Given the description of an element on the screen output the (x, y) to click on. 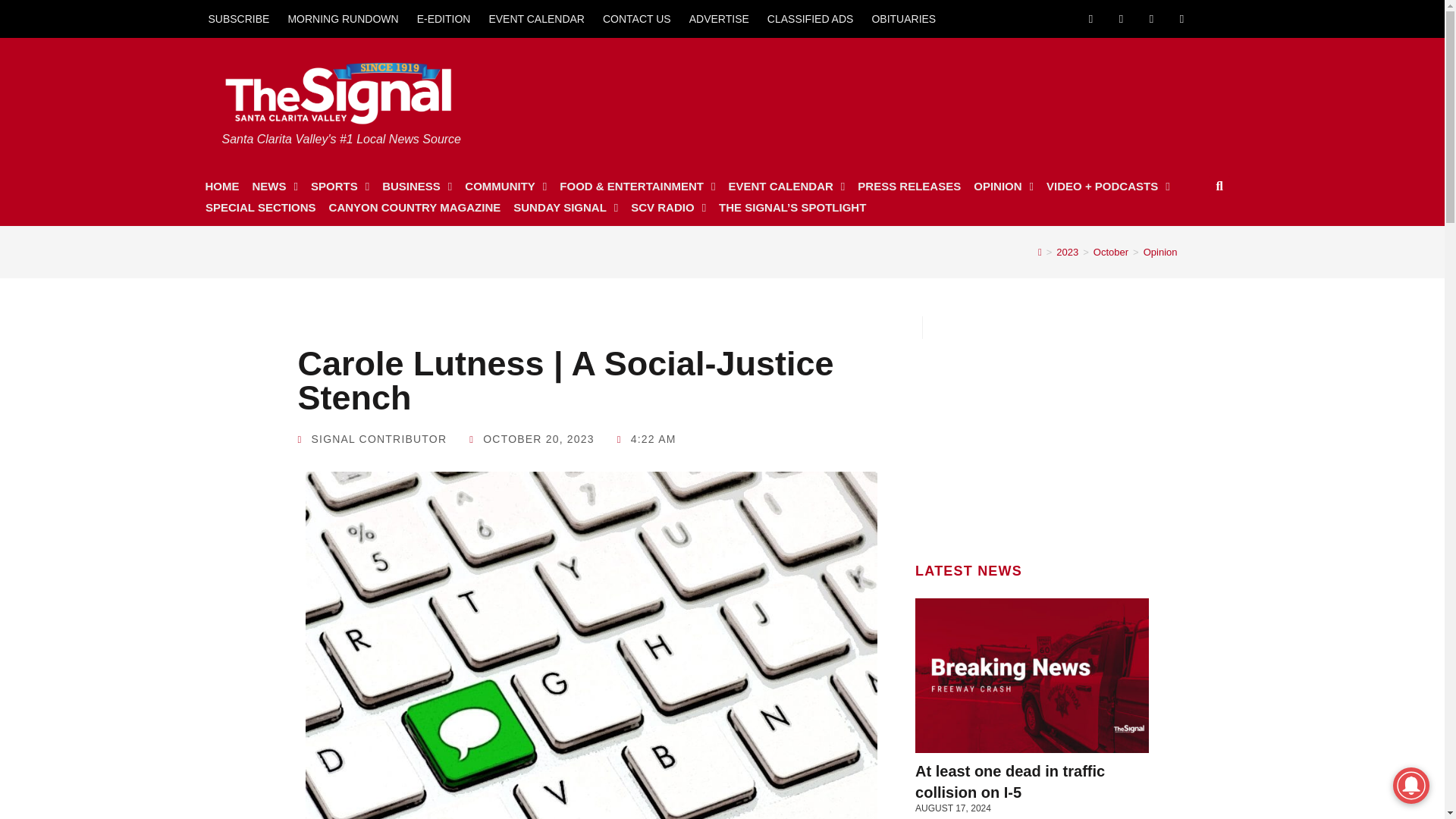
CLASSIFIED ADS (810, 18)
EVENT CALENDAR (536, 18)
SUBSCRIBE (238, 18)
ADVERTISE (718, 18)
E-EDITION (443, 18)
MORNING RUNDOWN (342, 18)
3rd party ad content (1031, 433)
SPORTS (339, 186)
OBITUARIES (902, 18)
3rd party ad content (932, 94)
